Given the description of an element on the screen output the (x, y) to click on. 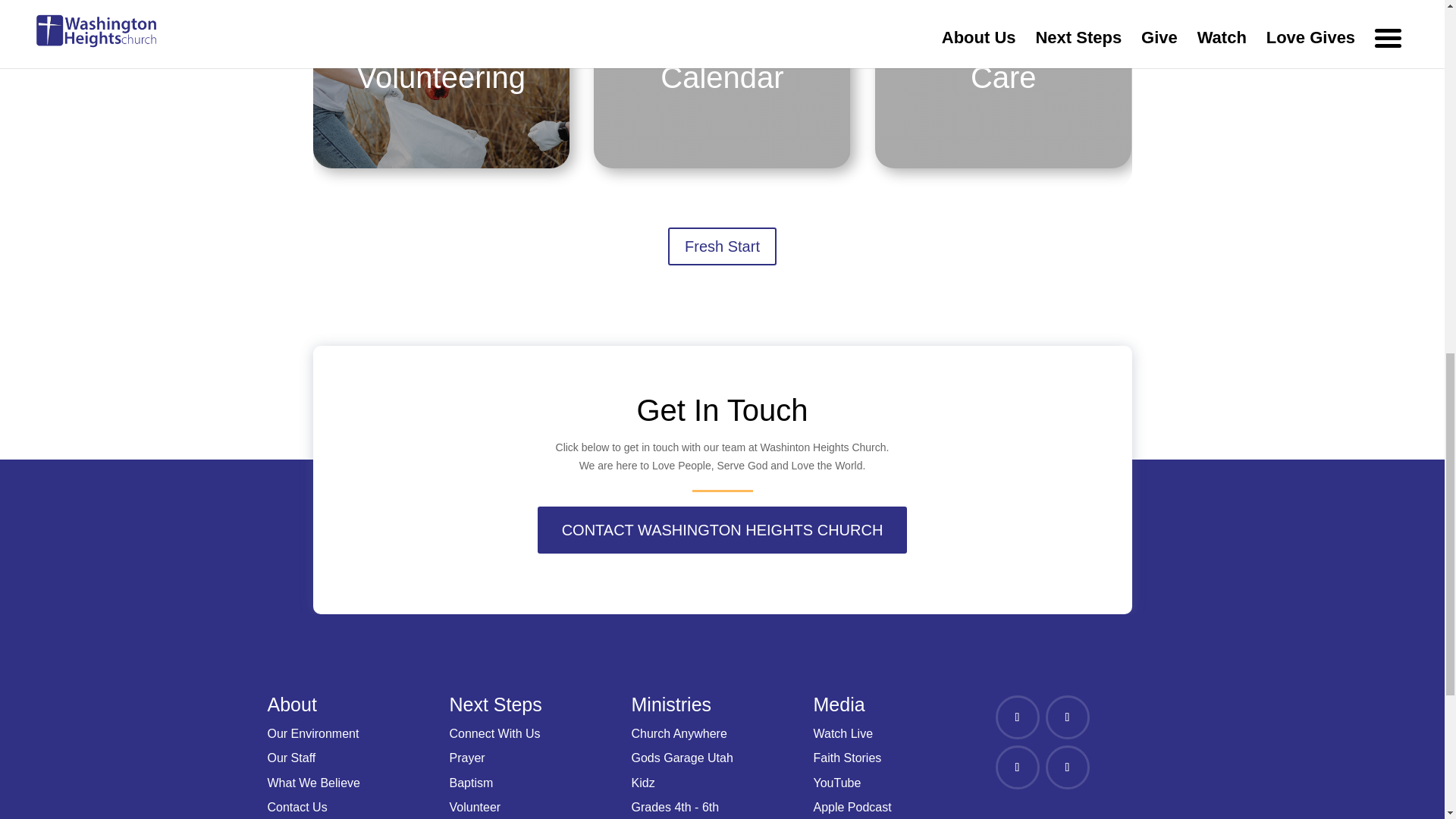
Follow on Facebook (1016, 717)
Follow on Instagram (1016, 767)
Follow on X (1067, 717)
Follow on Youtube (1067, 767)
